Given the description of an element on the screen output the (x, y) to click on. 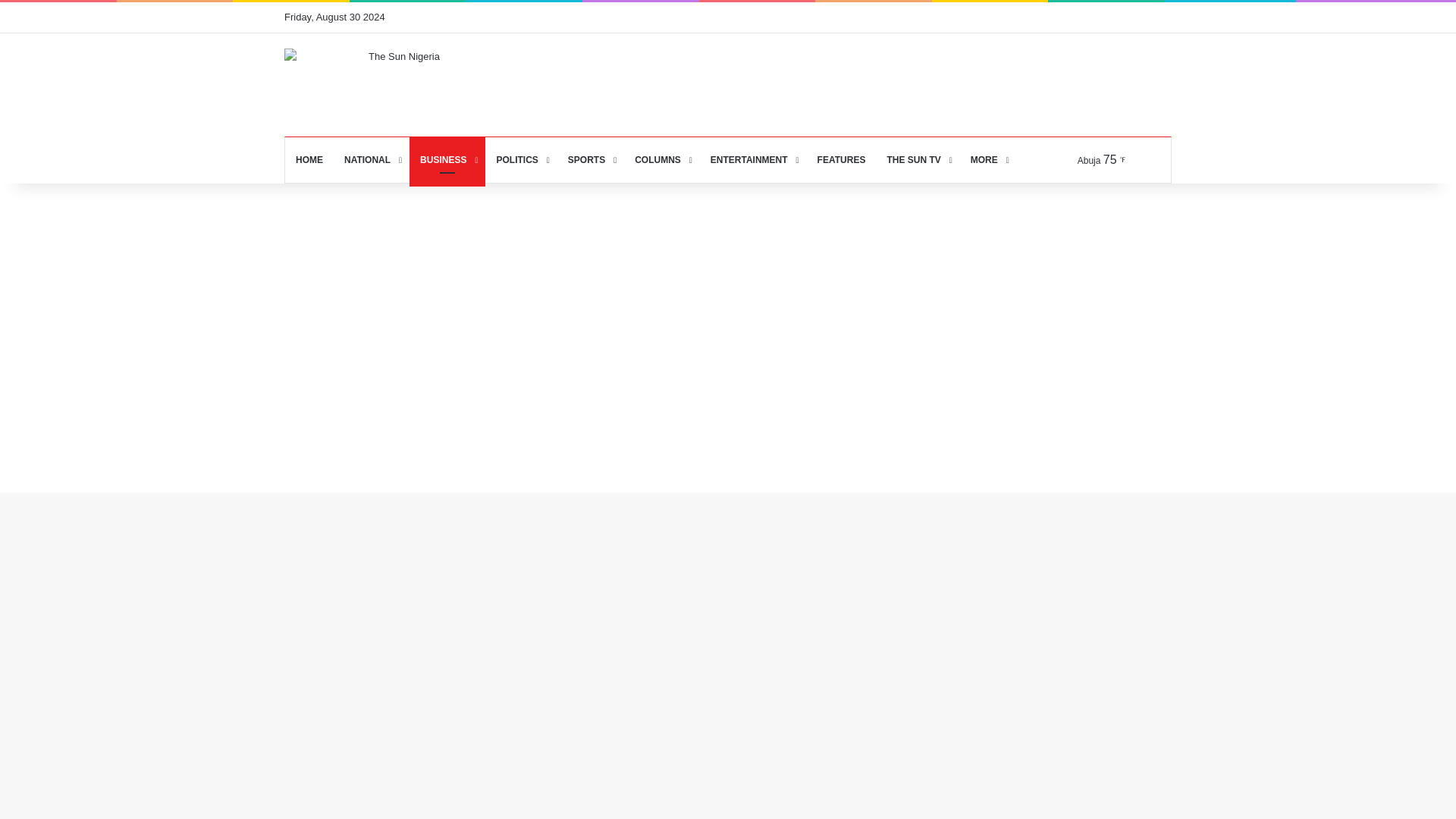
MORE (987, 159)
NATIONAL (371, 159)
ENTERTAINMENT (753, 159)
COLUMNS (662, 159)
Scattered Clouds (1104, 158)
The Sun Nigeria (397, 85)
BUSINESS (446, 159)
FEATURES (841, 159)
SPORTS (590, 159)
THE SUN TV (917, 159)
